Given the description of an element on the screen output the (x, y) to click on. 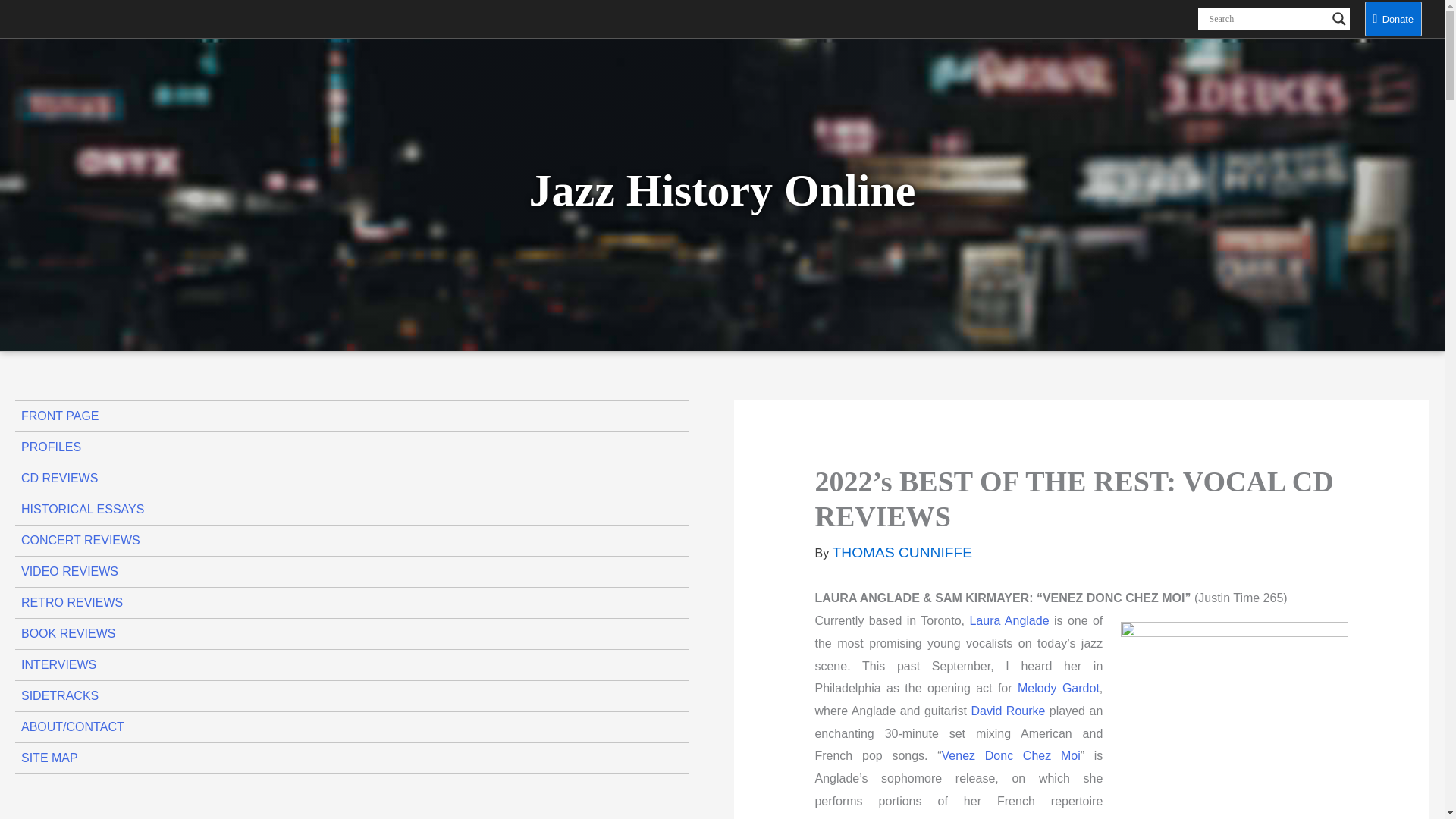
VIDEO REVIEWS (351, 571)
BOOK REVIEWS (351, 634)
RETRO REVIEWS (351, 603)
CONCERT REVIEWS (351, 540)
SIDETRACKS (351, 695)
CD REVIEWS (351, 478)
FRONT PAGE (351, 416)
HISTORICAL ESSAYS (351, 509)
SITE MAP (351, 757)
View all posts by Thomas Cunniffe (902, 553)
